Given the description of an element on the screen output the (x, y) to click on. 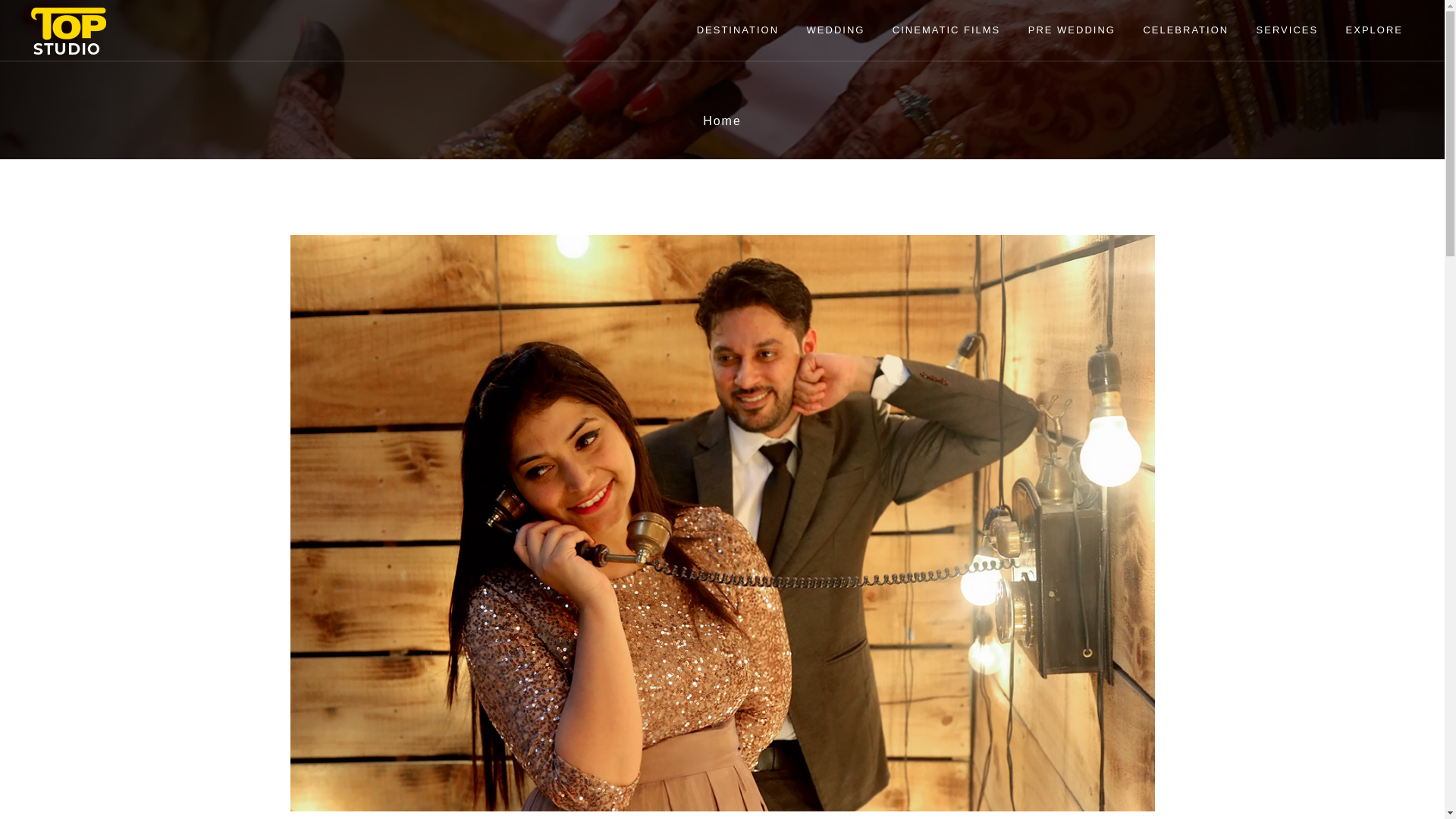
PRE WEDDING (1071, 30)
CELEBRATION (1185, 30)
SERVICES (1287, 30)
DESTINATION (737, 30)
Home (722, 121)
CINEMATIC FILMS (945, 30)
EXPLORE (1374, 30)
WEDDING (835, 30)
